Given the description of an element on the screen output the (x, y) to click on. 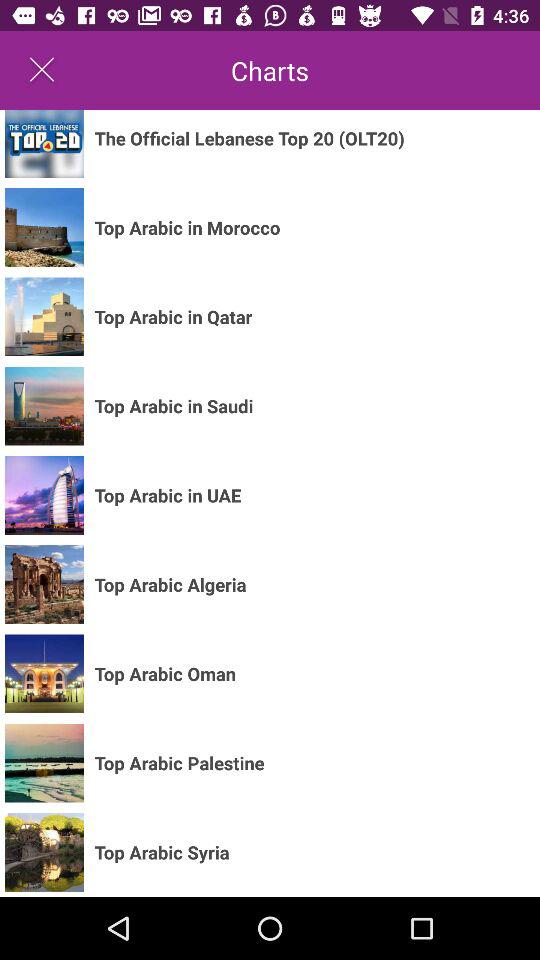
select the the official lebanese icon (249, 137)
